Given the description of an element on the screen output the (x, y) to click on. 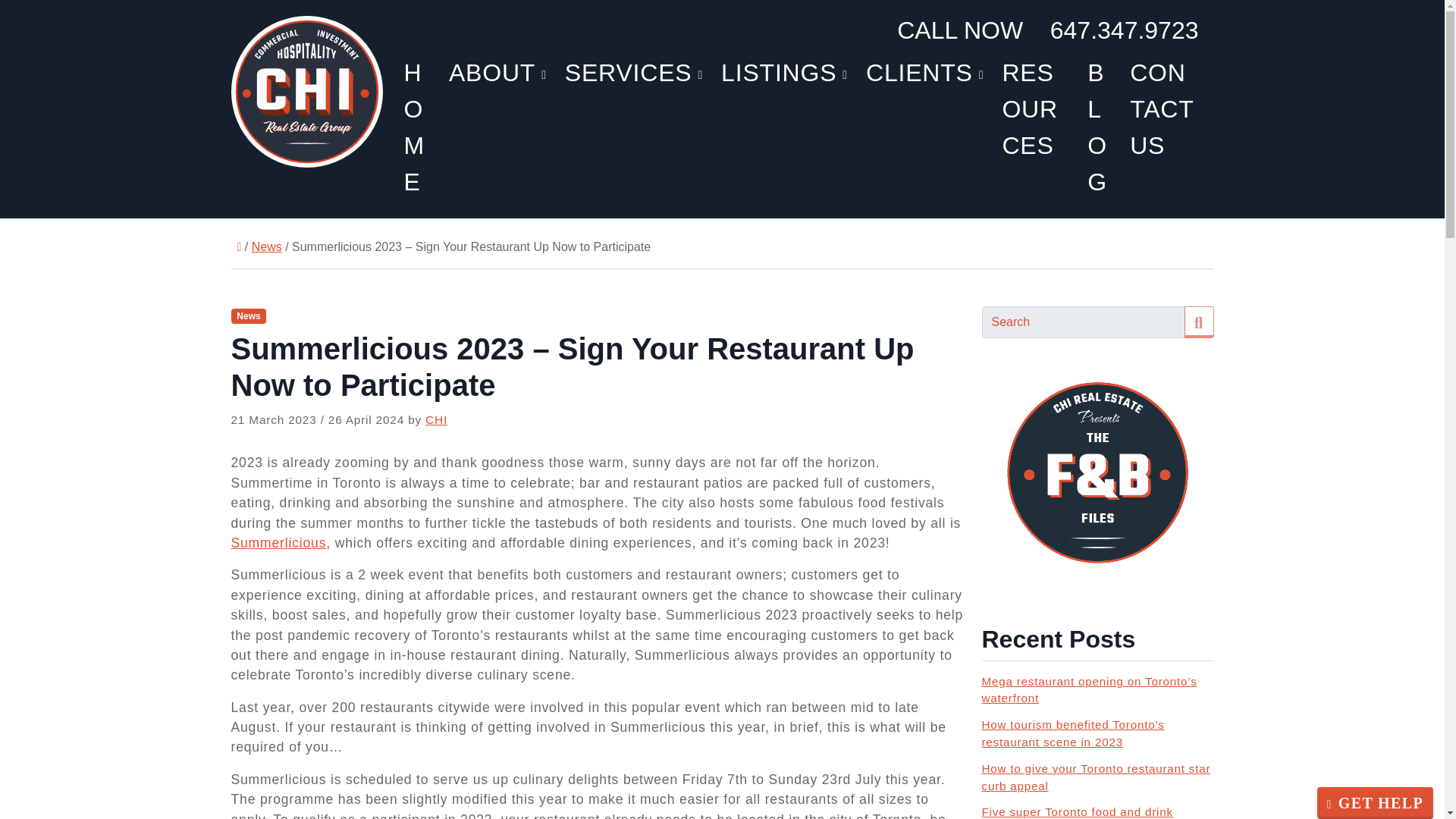
CLIENTS (924, 72)
News (266, 247)
Posts by CHI (435, 419)
Call Now 647.347.9723 (1047, 29)
LISTINGS (784, 72)
Summerlicious (278, 542)
ABOUT (497, 72)
CHI (435, 419)
SERVICES (633, 72)
News (248, 315)
